Given the description of an element on the screen output the (x, y) to click on. 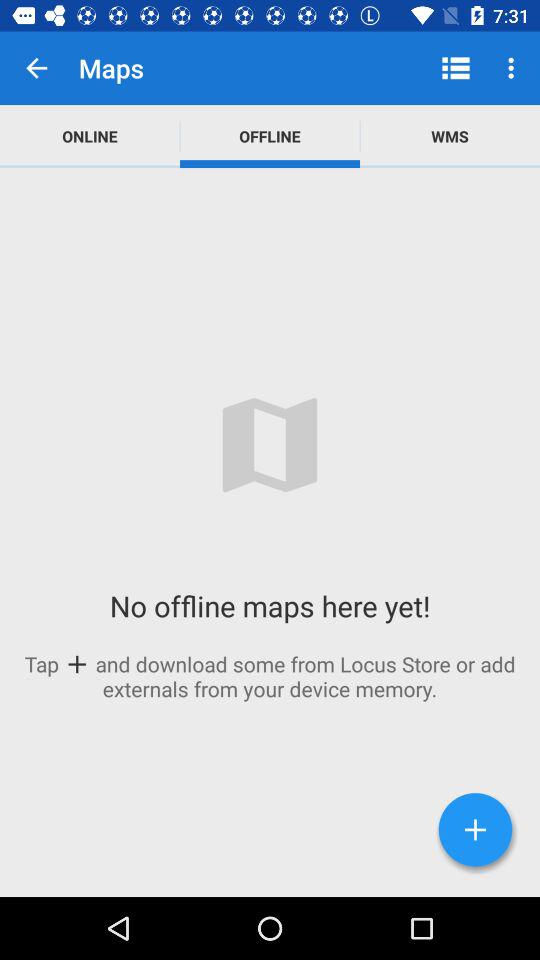
press the item next to the offline icon (90, 136)
